Given the description of an element on the screen output the (x, y) to click on. 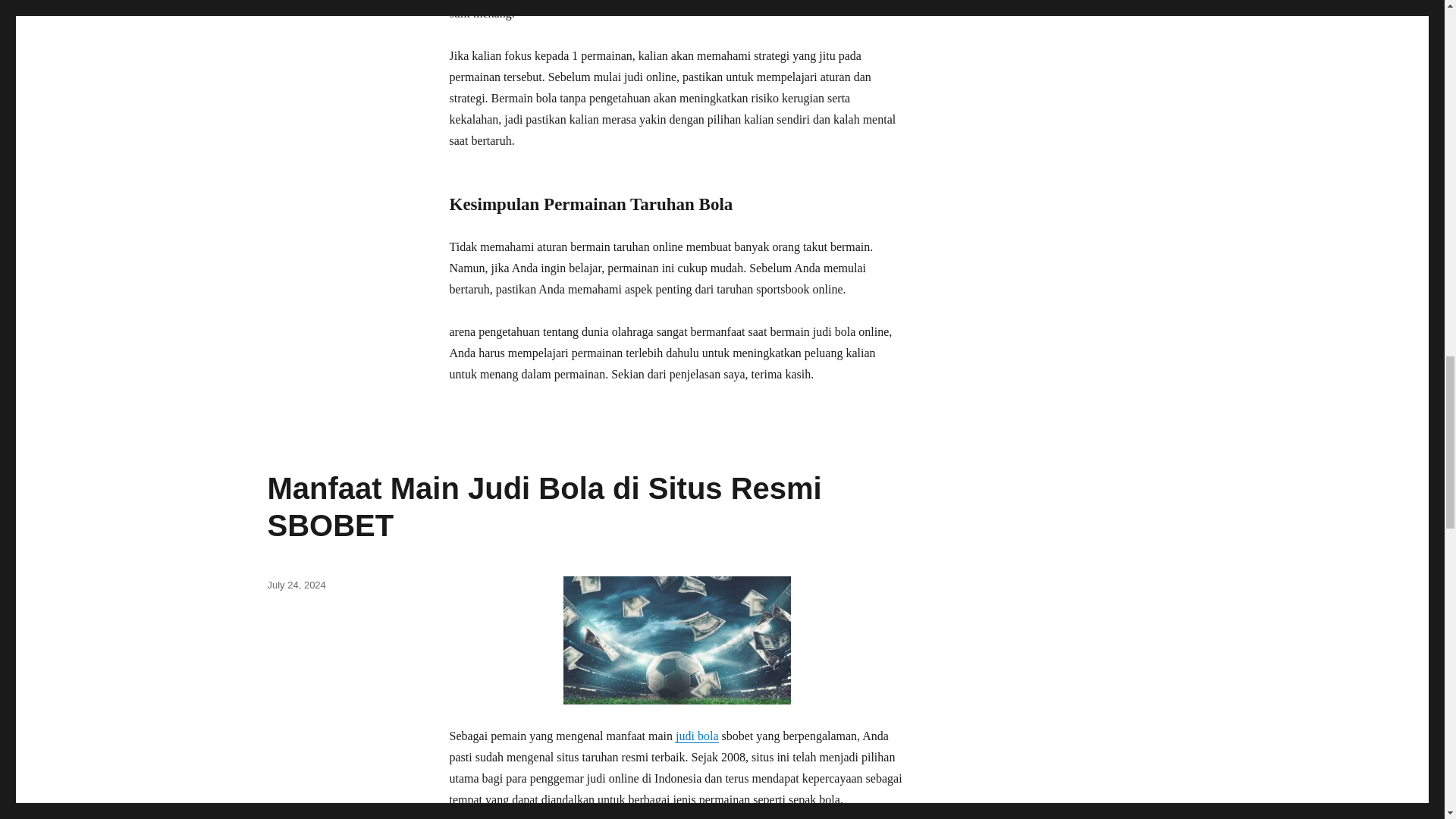
Manfaat Main Judi Bola di Situs Resmi SBOBET (543, 506)
July 24, 2024 (295, 584)
judi bola (696, 735)
